Given the description of an element on the screen output the (x, y) to click on. 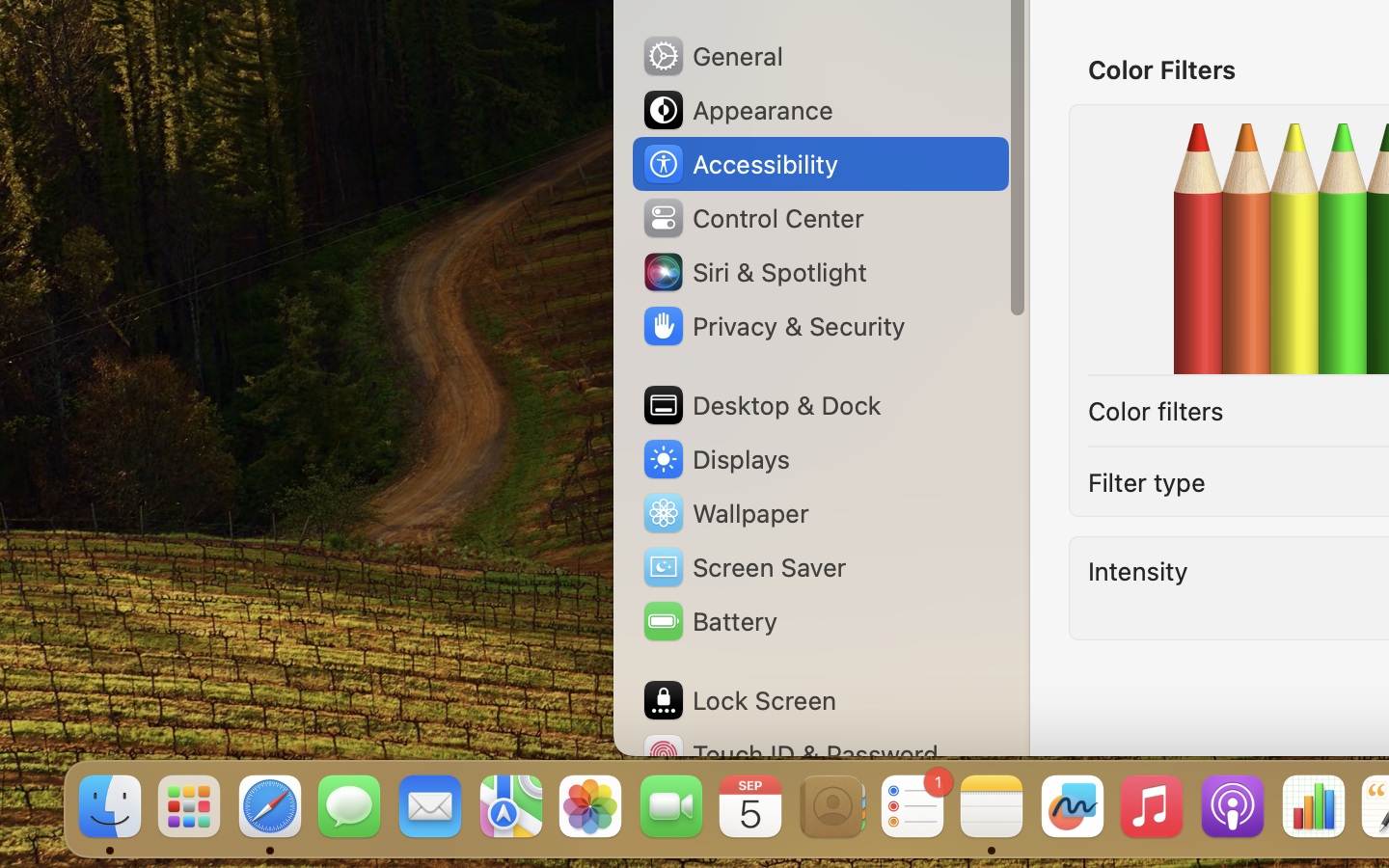
Privacy & Security Element type: AXStaticText (772, 325)
